Given the description of an element on the screen output the (x, y) to click on. 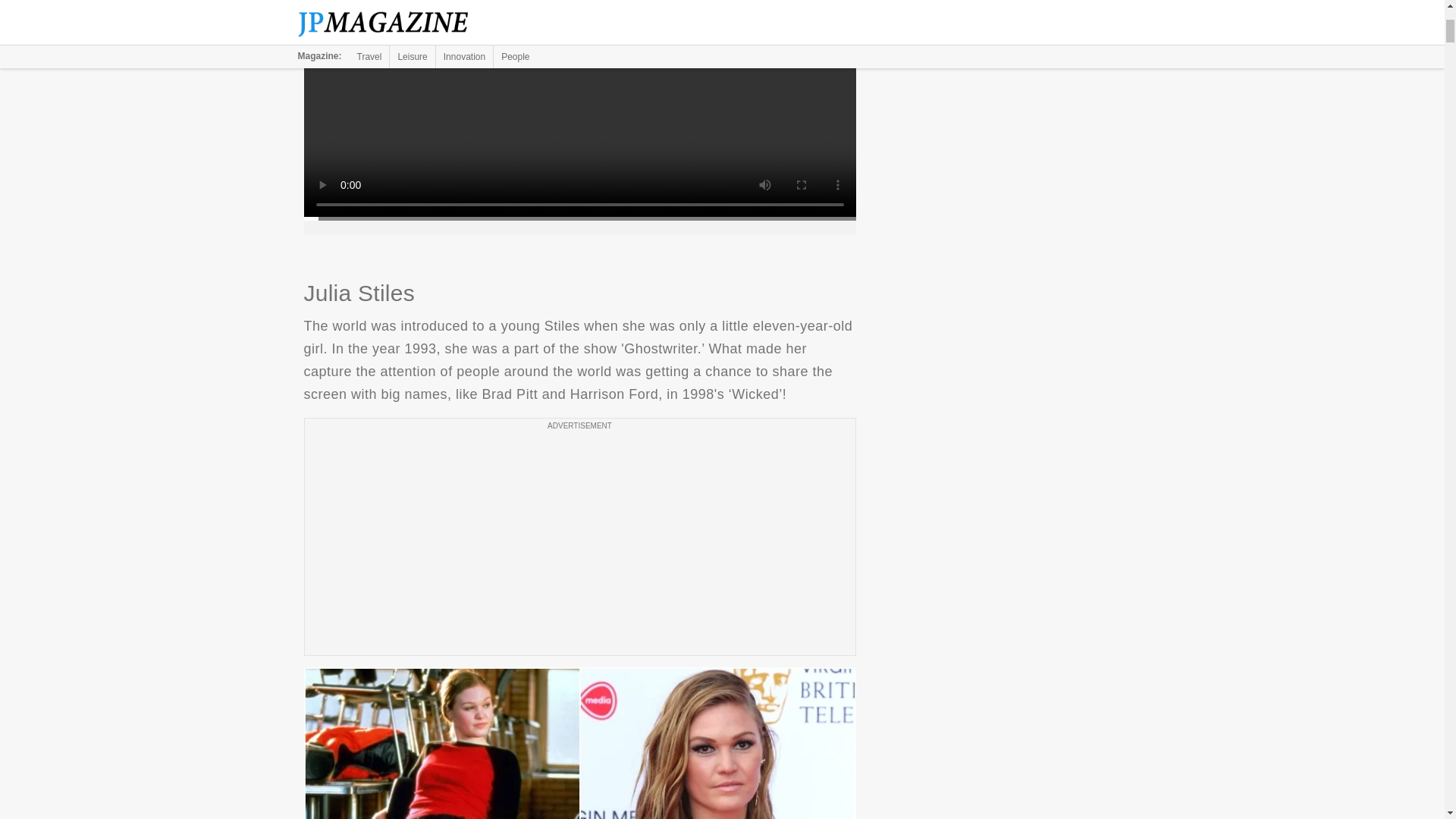
Julia Stiles (579, 743)
